Given the description of an element on the screen output the (x, y) to click on. 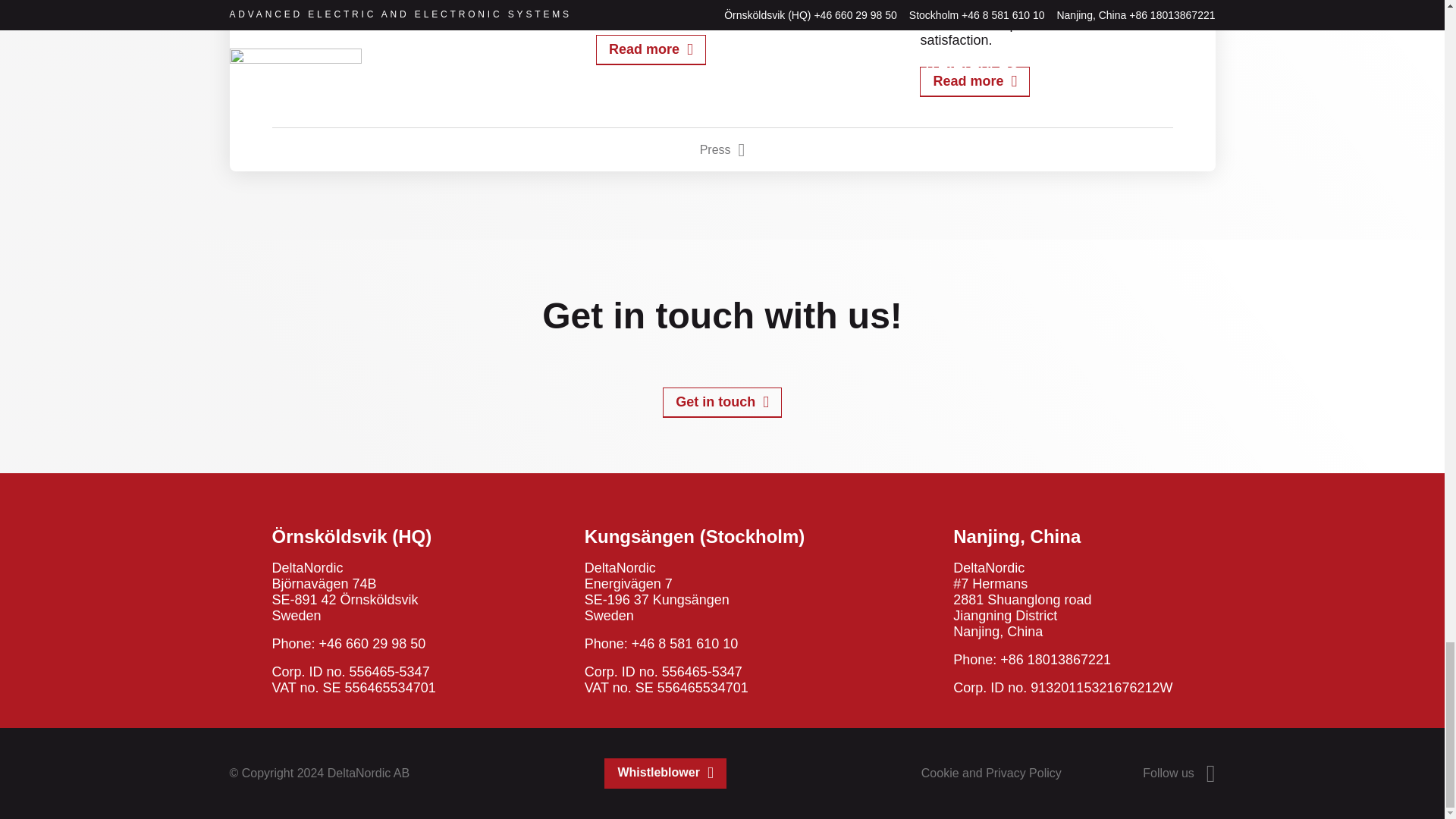
Press (722, 149)
We are looking for a IT Manager (650, 50)
Whistleblower (664, 773)
Join our team! (325, 13)
Get in touch (721, 402)
DeltaNordic's Success after the Relocation (974, 81)
